Given the description of an element on the screen output the (x, y) to click on. 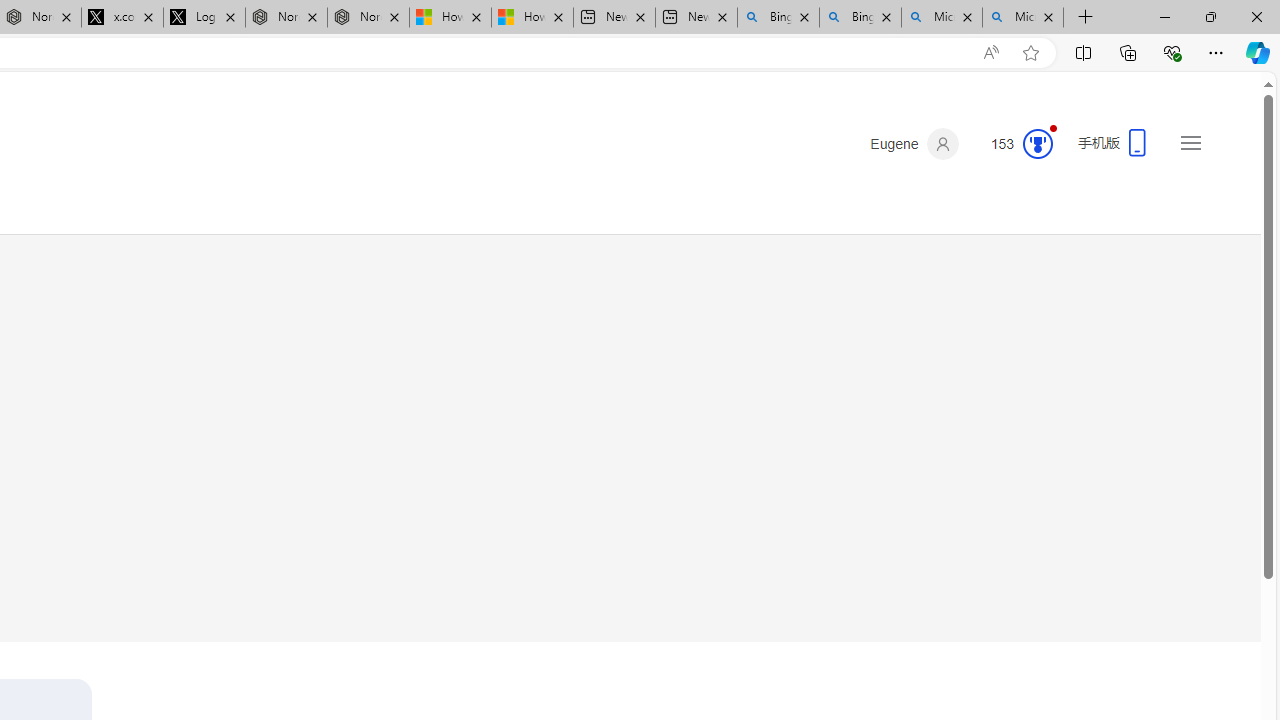
Eugene (914, 143)
Bing AI - Search (860, 17)
Microsoft Rewards 153 (1014, 143)
